Given the description of an element on the screen output the (x, y) to click on. 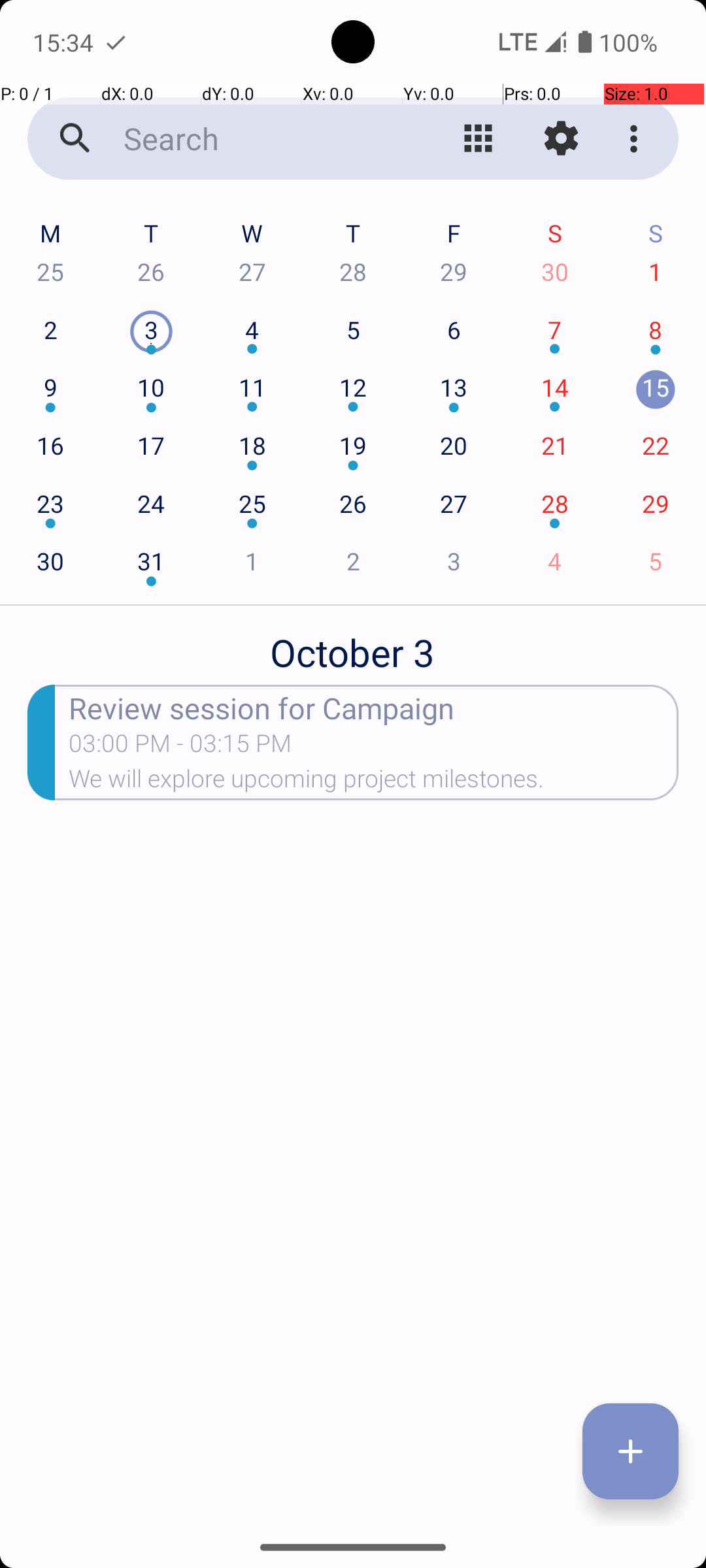
October 3 Element type: android.widget.TextView (352, 644)
03:00 PM - 03:15 PM Element type: android.widget.TextView (179, 747)
We will explore upcoming project milestones. Element type: android.widget.TextView (373, 782)
